Given the description of an element on the screen output the (x, y) to click on. 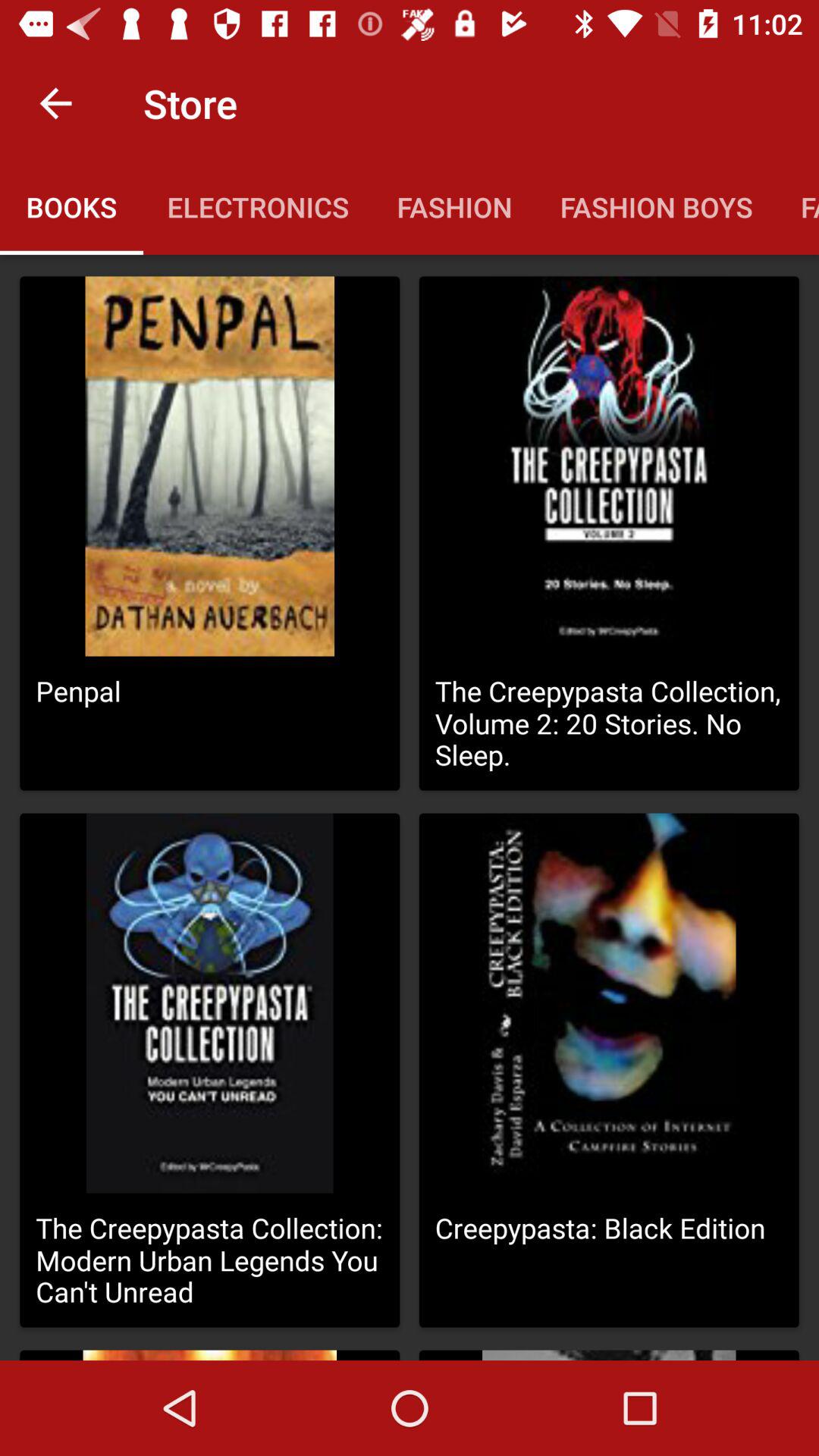
click the second block (608, 533)
click the second image (609, 466)
select the first image (209, 466)
